Given the description of an element on the screen output the (x, y) to click on. 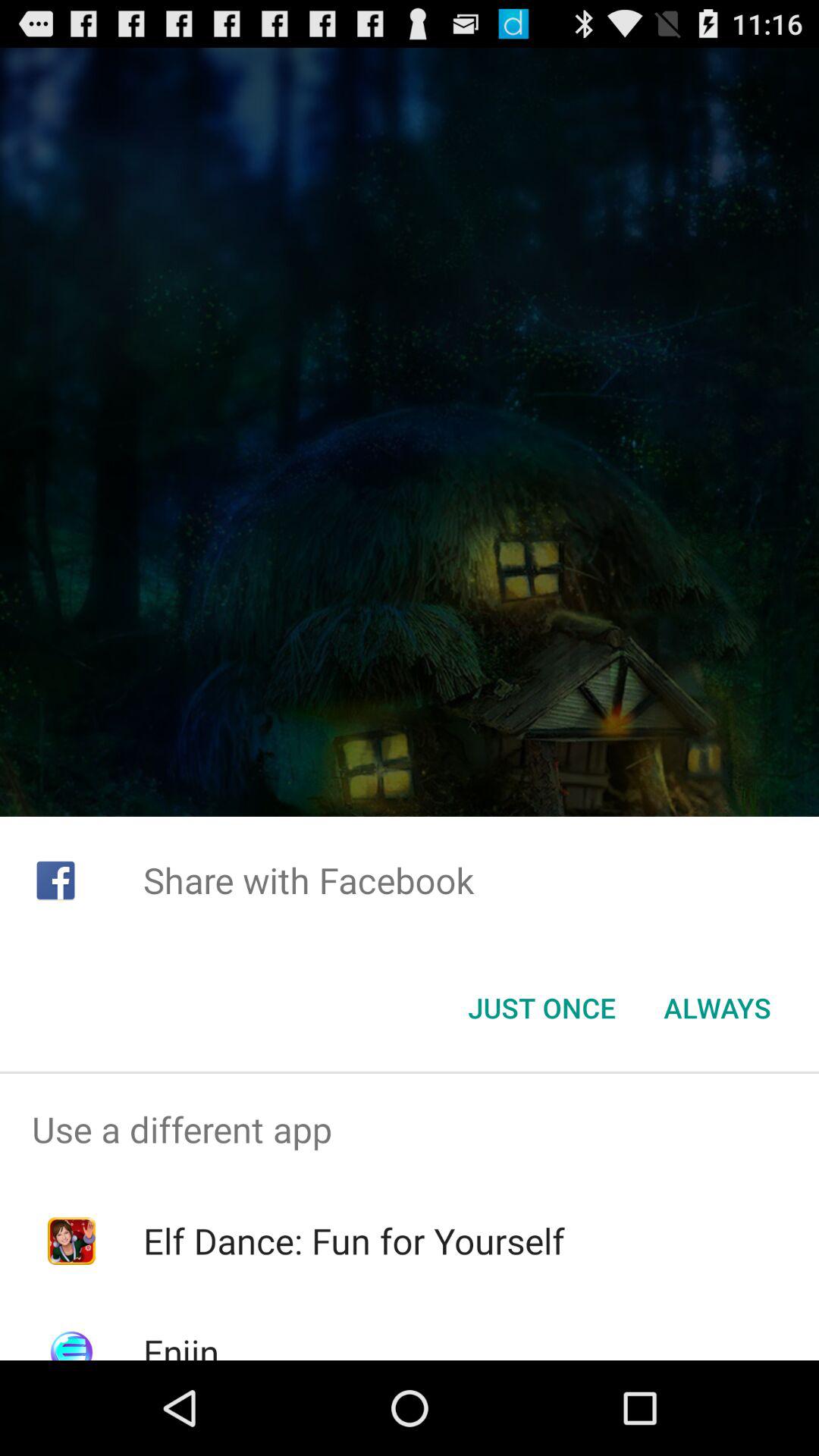
turn on app below share with facebook (717, 1007)
